Given the description of an element on the screen output the (x, y) to click on. 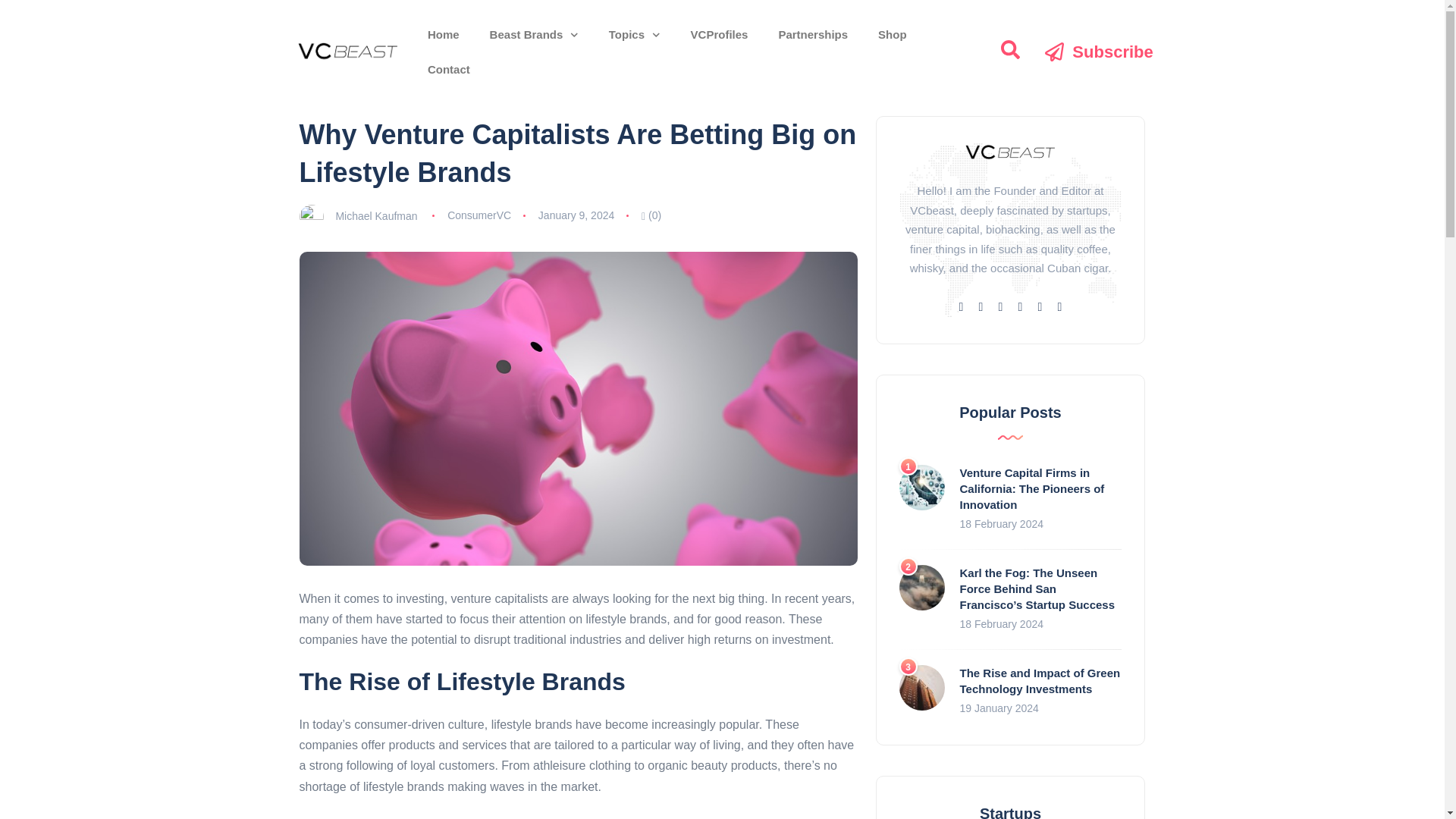
Go to the ConsumerVC Category archives. (384, 91)
Go to My Blog. (317, 91)
Posts by Michael Kaufman (375, 215)
